Given the description of an element on the screen output the (x, y) to click on. 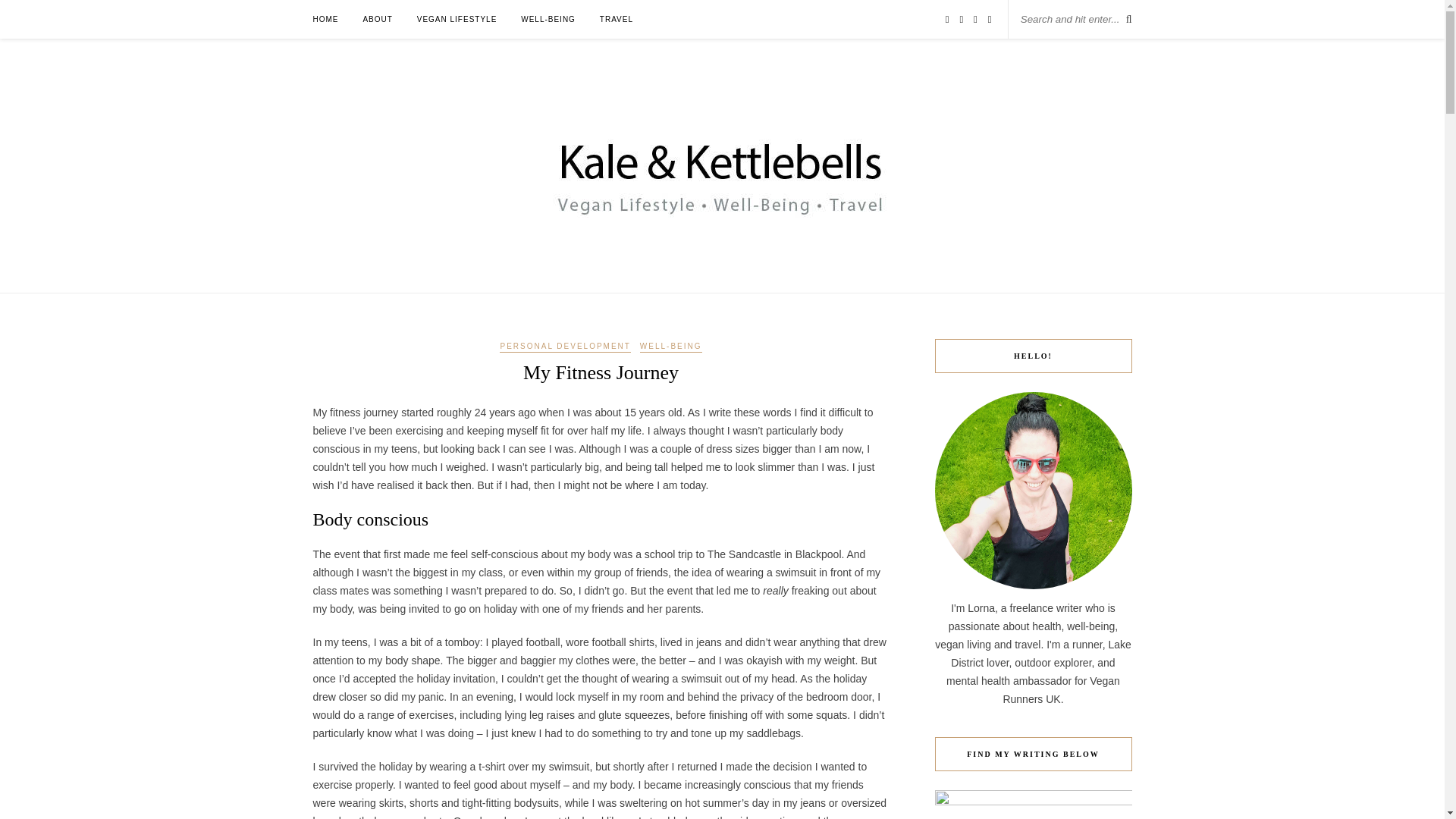
WELL-BEING (670, 347)
VEGAN LIFESTYLE (456, 19)
PERSONAL DEVELOPMENT (564, 347)
View all posts in Personal Development (564, 347)
WELL-BEING (548, 19)
View all posts in Well-being (670, 347)
